Given the description of an element on the screen output the (x, y) to click on. 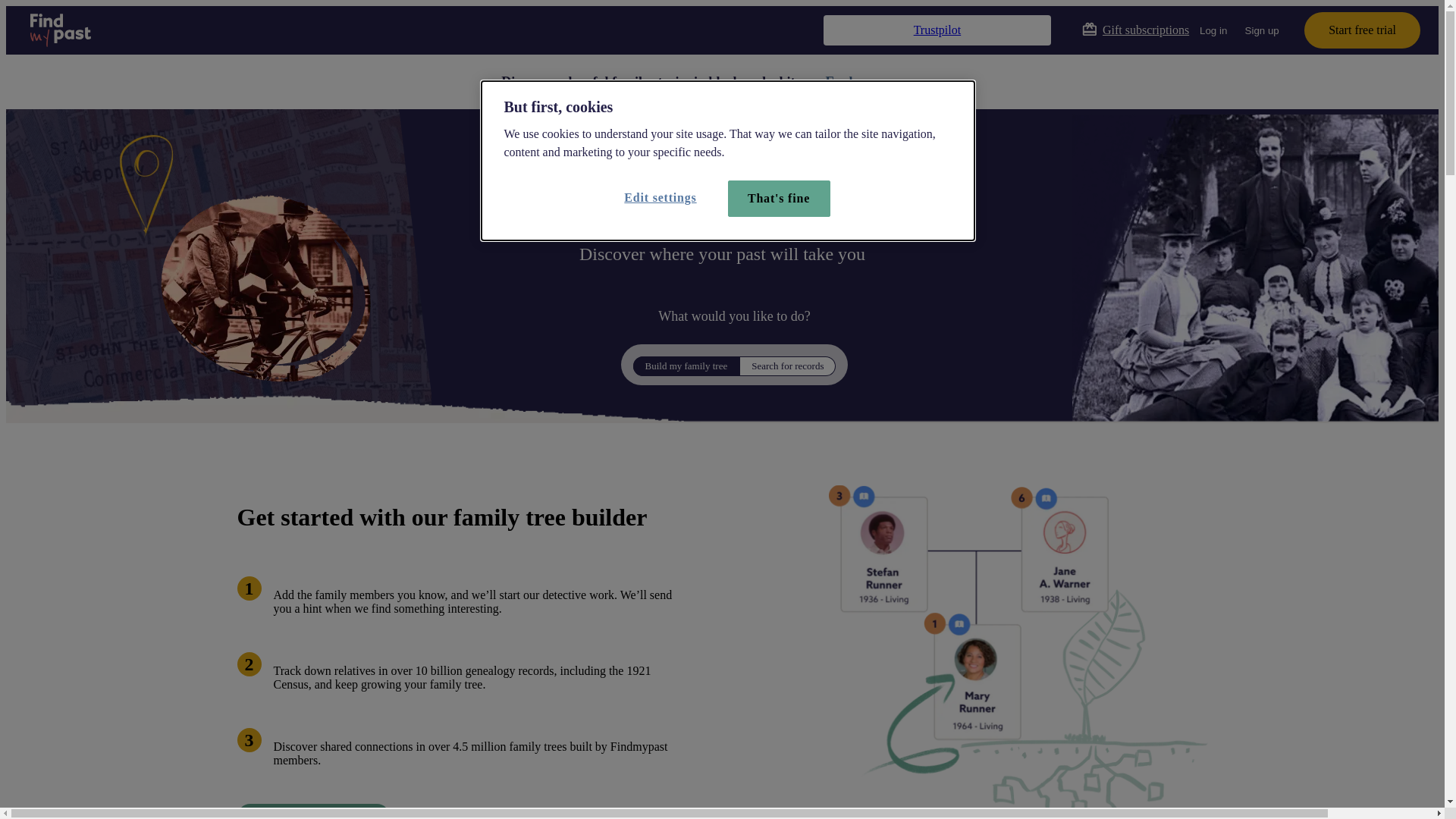
That's fine Element type: text (779, 198)
Trustpilot Element type: text (937, 30)
Log in Element type: text (1213, 30)
Edit settings Element type: text (663, 197)
Gift subscriptions Element type: text (1135, 30)
Start free trial Element type: text (1362, 30)
Sign up Element type: text (1261, 30)
